Given the description of an element on the screen output the (x, y) to click on. 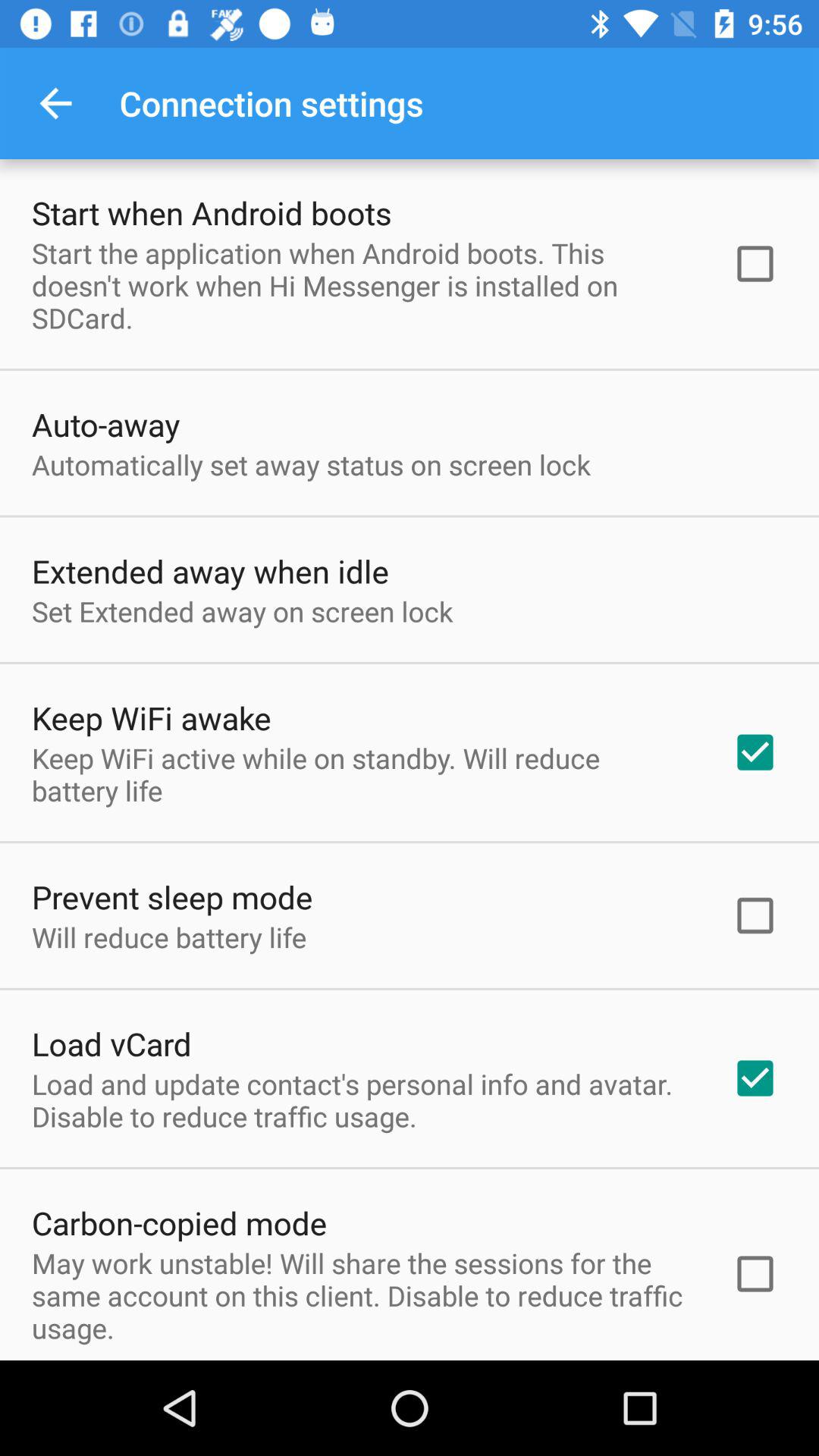
open icon above the load and update item (111, 1043)
